Given the description of an element on the screen output the (x, y) to click on. 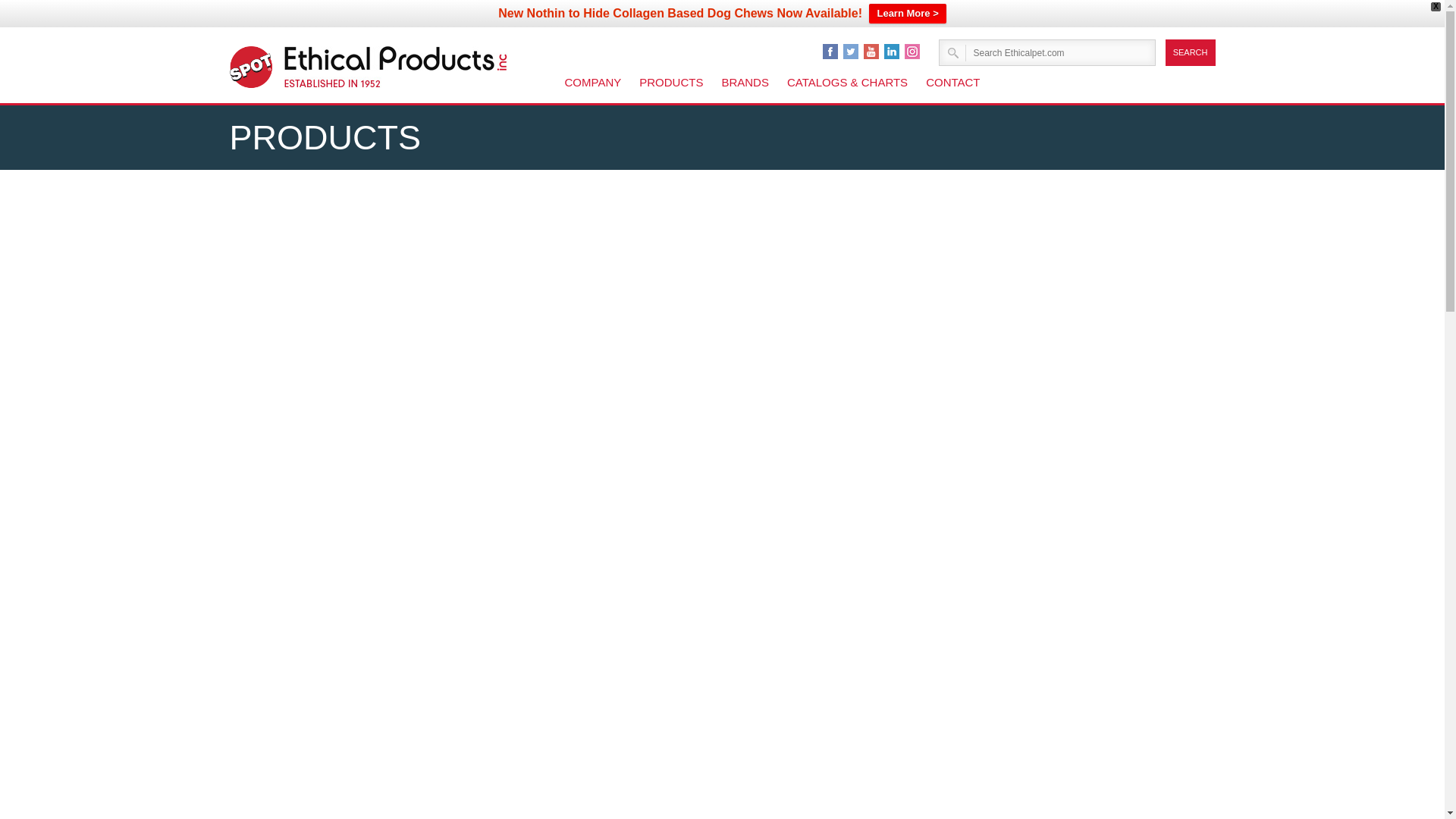
Back to home page (394, 66)
Search (1190, 52)
BRANDS (744, 82)
Search (1190, 52)
COMPANY (592, 82)
PRODUCTS (670, 82)
CONTACT (952, 82)
